Given the description of an element on the screen output the (x, y) to click on. 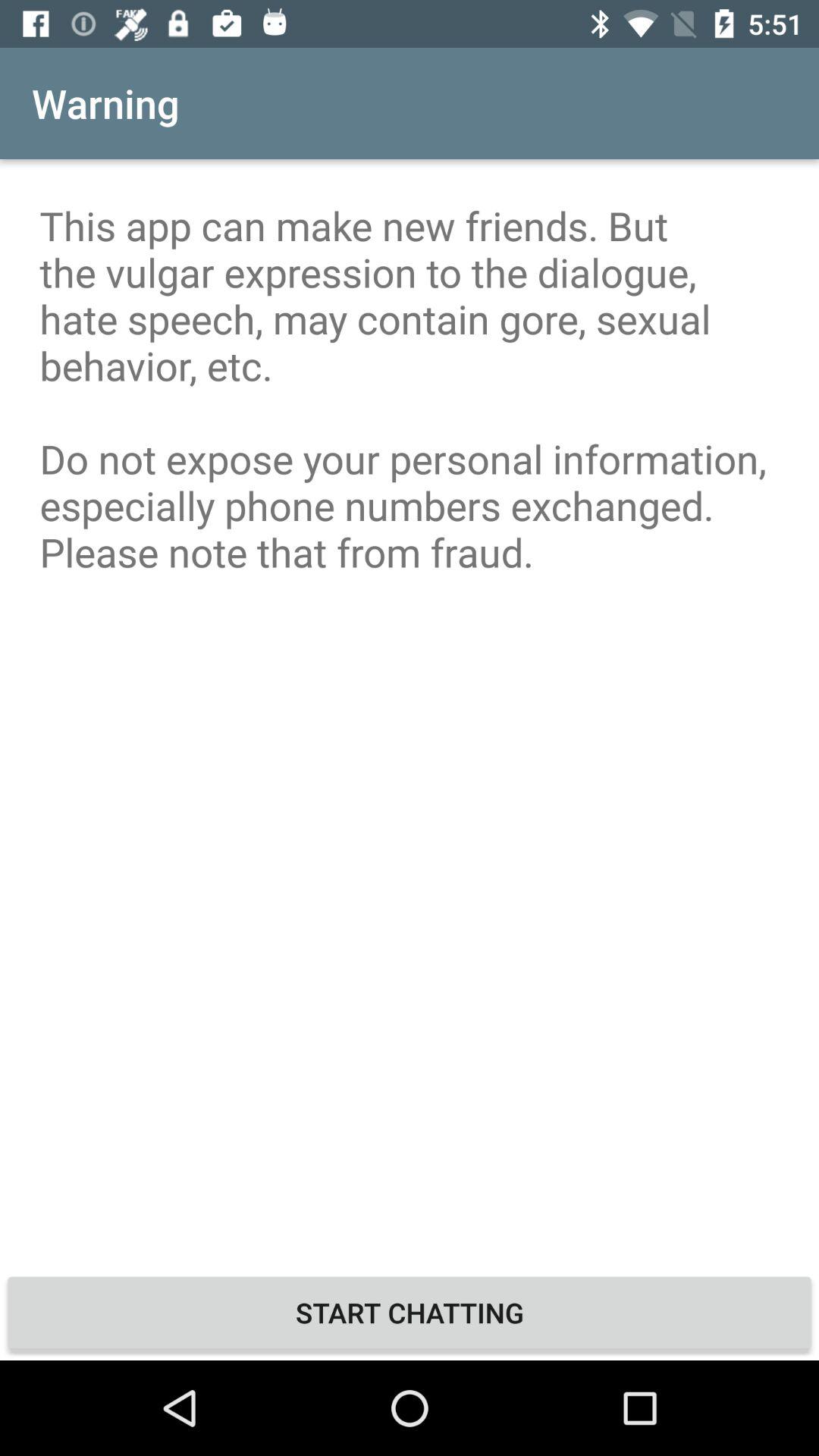
open the start chatting icon (409, 1312)
